Given the description of an element on the screen output the (x, y) to click on. 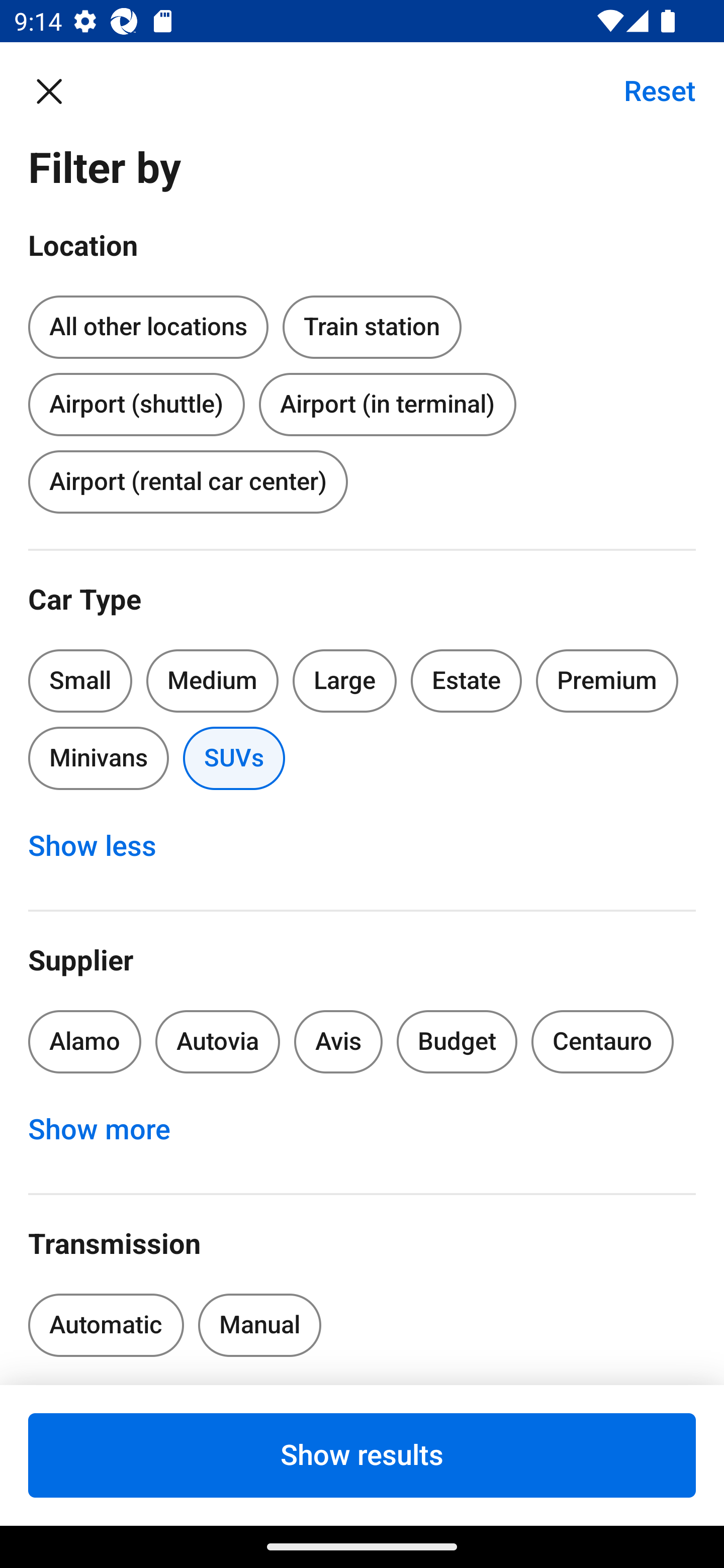
Close (59, 90)
Reset (649, 90)
All other locations (148, 327)
Train station (371, 323)
Airport (shuttle) (136, 400)
Airport (in terminal) (387, 404)
Airport (rental car center) (187, 481)
Small (80, 680)
Medium (212, 680)
Large (344, 680)
Estate (466, 680)
Premium (606, 680)
Minivans (98, 758)
Show less (102, 846)
Alamo (84, 1041)
Autovia (217, 1041)
Avis (338, 1041)
Budget (456, 1041)
Centauro (602, 1041)
Show more (109, 1129)
Automatic (105, 1324)
Manual (259, 1324)
Show results (361, 1454)
